Given the description of an element on the screen output the (x, y) to click on. 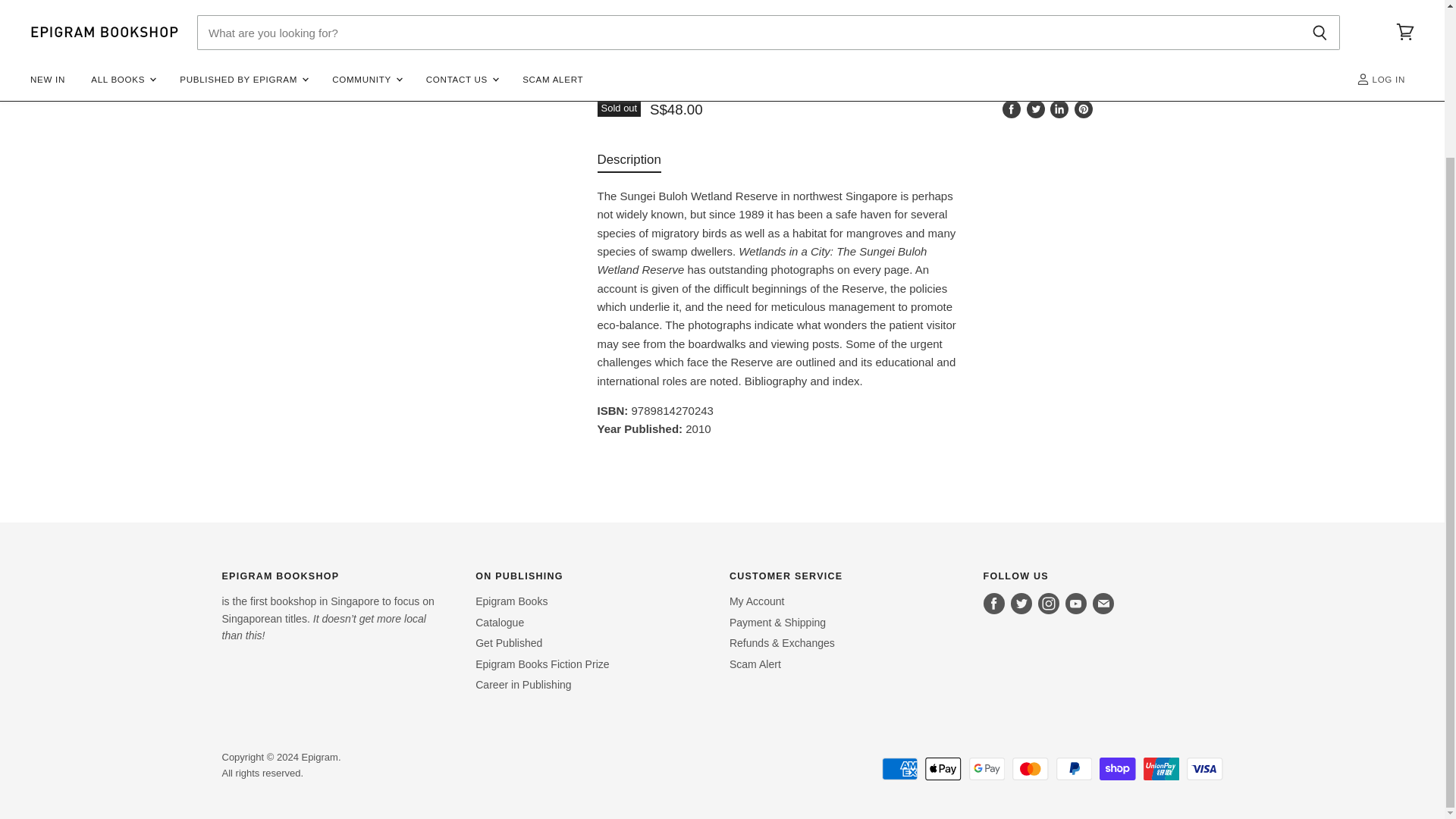
Instagram (1048, 603)
Twitter (1021, 603)
Youtube (1075, 603)
E-mail (1102, 603)
Facebook (993, 603)
